Given the description of an element on the screen output the (x, y) to click on. 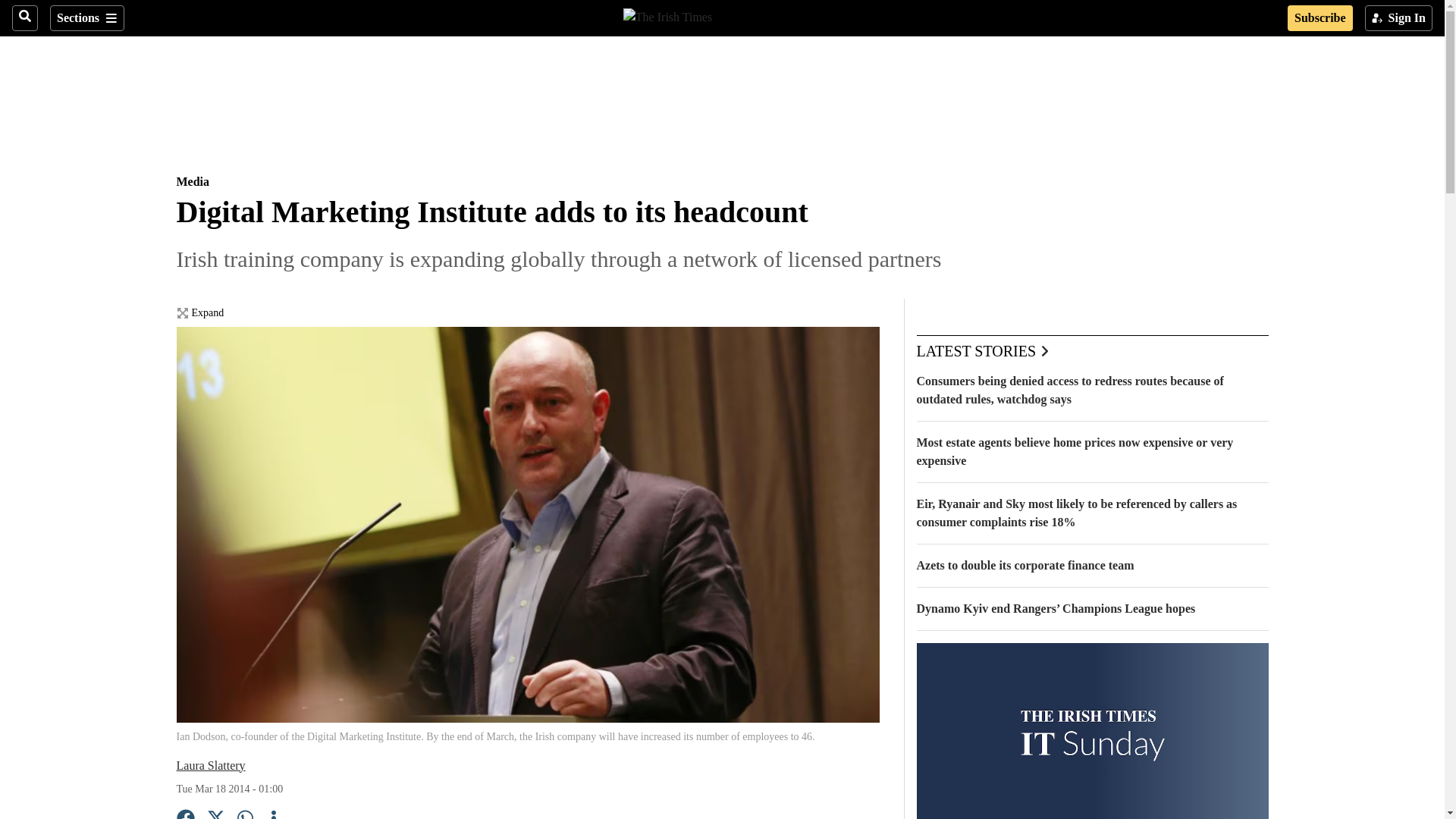
X (215, 814)
Sign In (1398, 17)
Sections (86, 17)
Subscribe (1319, 17)
WhatsApp (244, 814)
The Irish Times (667, 15)
Facebook (184, 814)
